Given the description of an element on the screen output the (x, y) to click on. 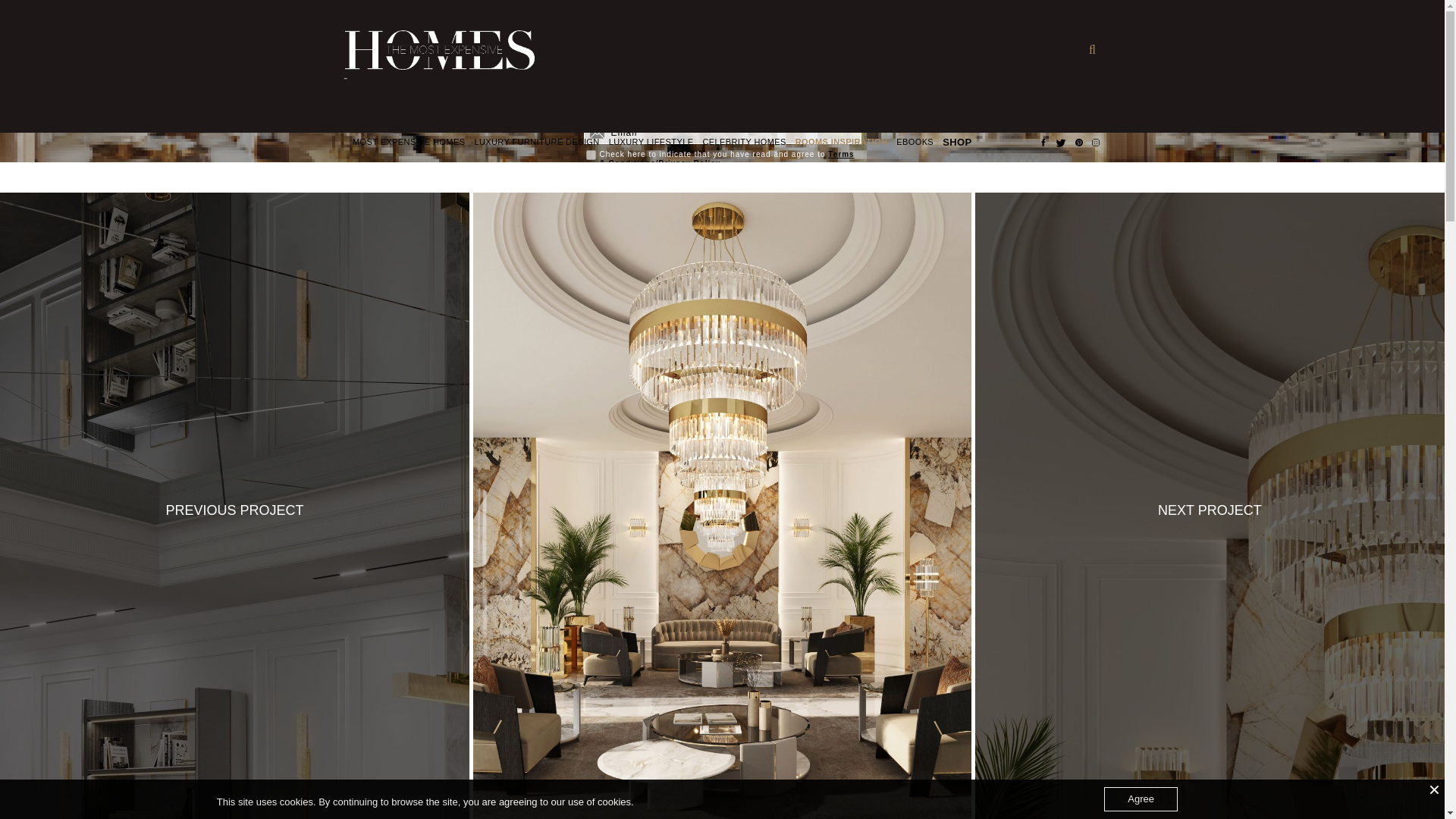
LUXURY LIFESTYLE (651, 142)
UNLOCK IT NOW (722, 188)
SHOP (956, 142)
ROOMS INSPIRATION (841, 142)
CELEBRITY HOMES (743, 142)
EBOOKS (914, 142)
LUXURY FURNITURE DESIGN (536, 142)
UNLOCK IT NOW (722, 188)
MOST EXPENSIVE HOMES (408, 142)
on (590, 154)
